Given the description of an element on the screen output the (x, y) to click on. 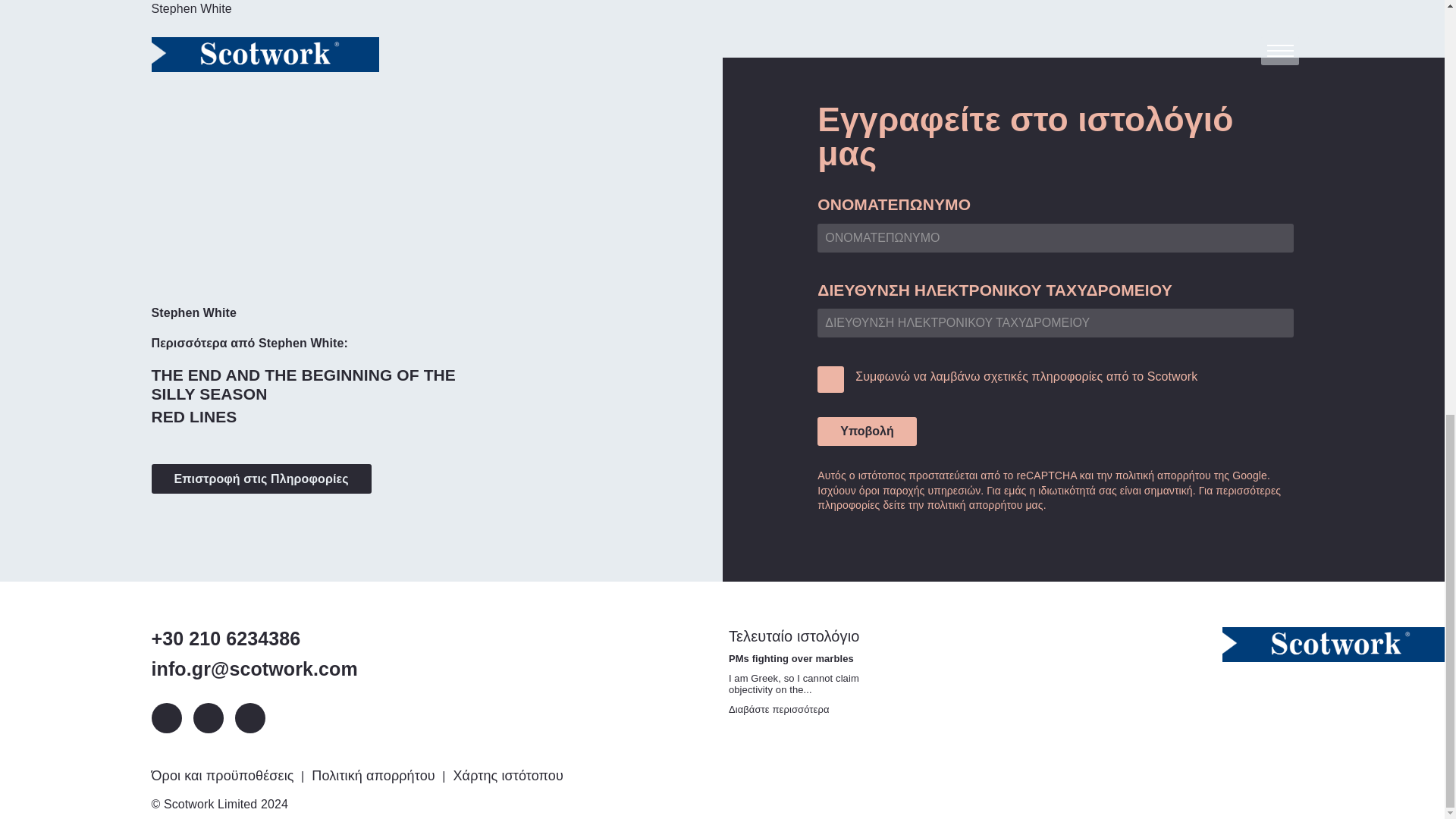
facebook (249, 717)
The End and the Beginning of the Silly Season (317, 384)
RED LINES (194, 416)
twitter (207, 717)
THE END AND THE BEGINNING OF THE SILLY SEASON (317, 384)
Red Lines (194, 416)
linkedin (166, 717)
PMs fighting over marbles (779, 708)
